Given the description of an element on the screen output the (x, y) to click on. 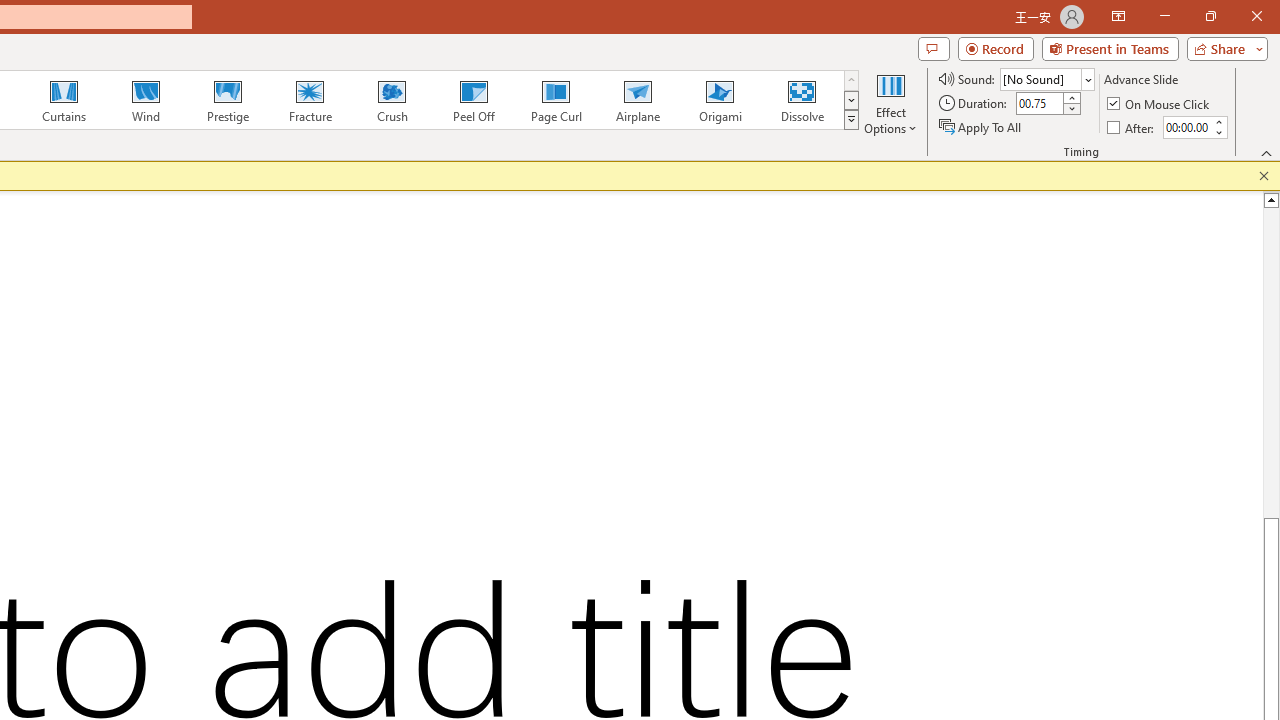
Duration (1039, 103)
Fracture (309, 100)
Airplane (637, 100)
Close this message (1263, 176)
Dissolve (802, 100)
Peel Off (473, 100)
Apply To All (981, 126)
Sound (1046, 78)
